Given the description of an element on the screen output the (x, y) to click on. 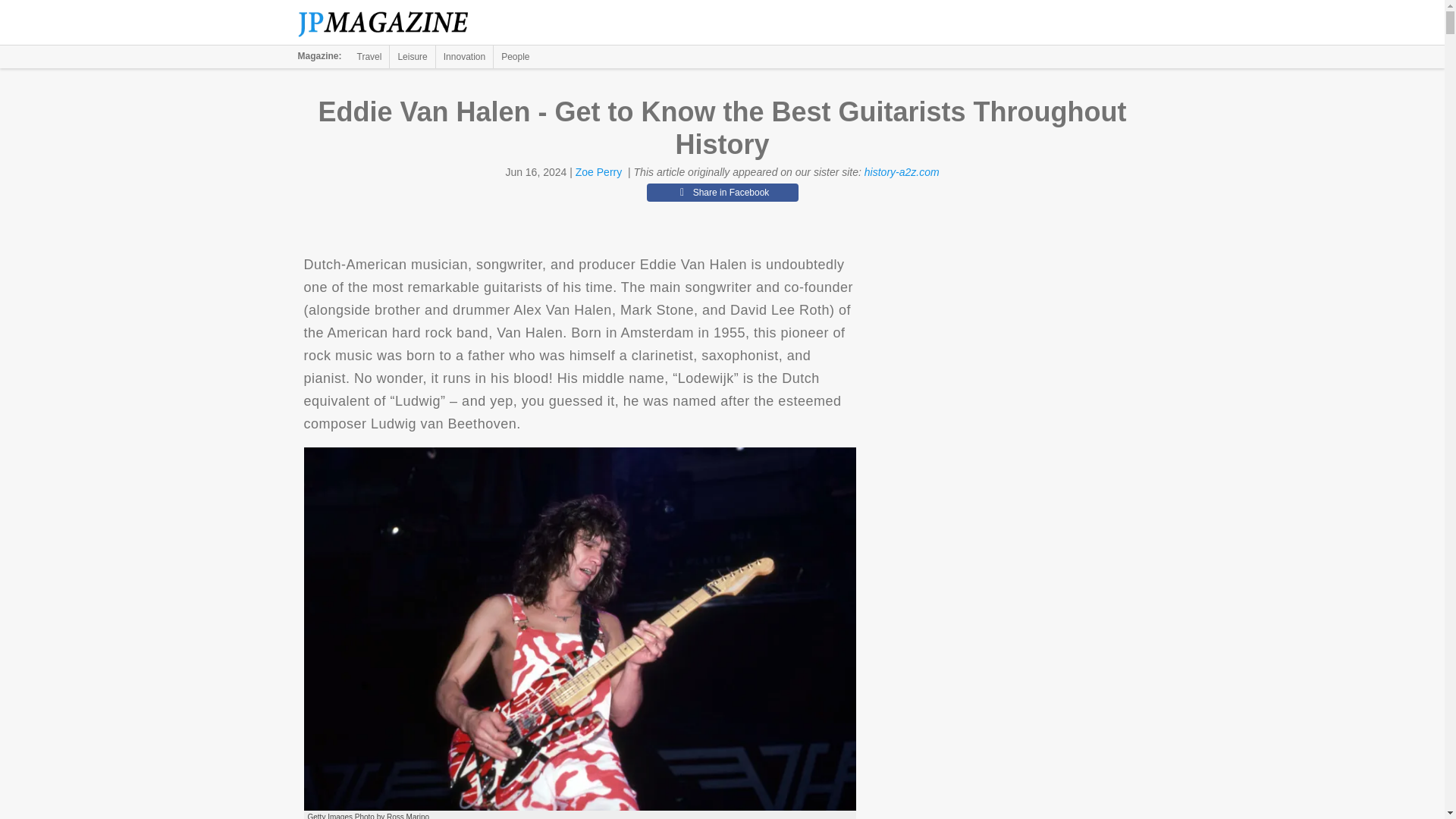
Travel (369, 56)
history-a2z.com (901, 172)
Share in Facebook (721, 192)
Innovation (464, 56)
Zoe Perry (598, 172)
The Jerusalem Post Magazine (391, 22)
People (515, 56)
Leisure (411, 56)
